Given the description of an element on the screen output the (x, y) to click on. 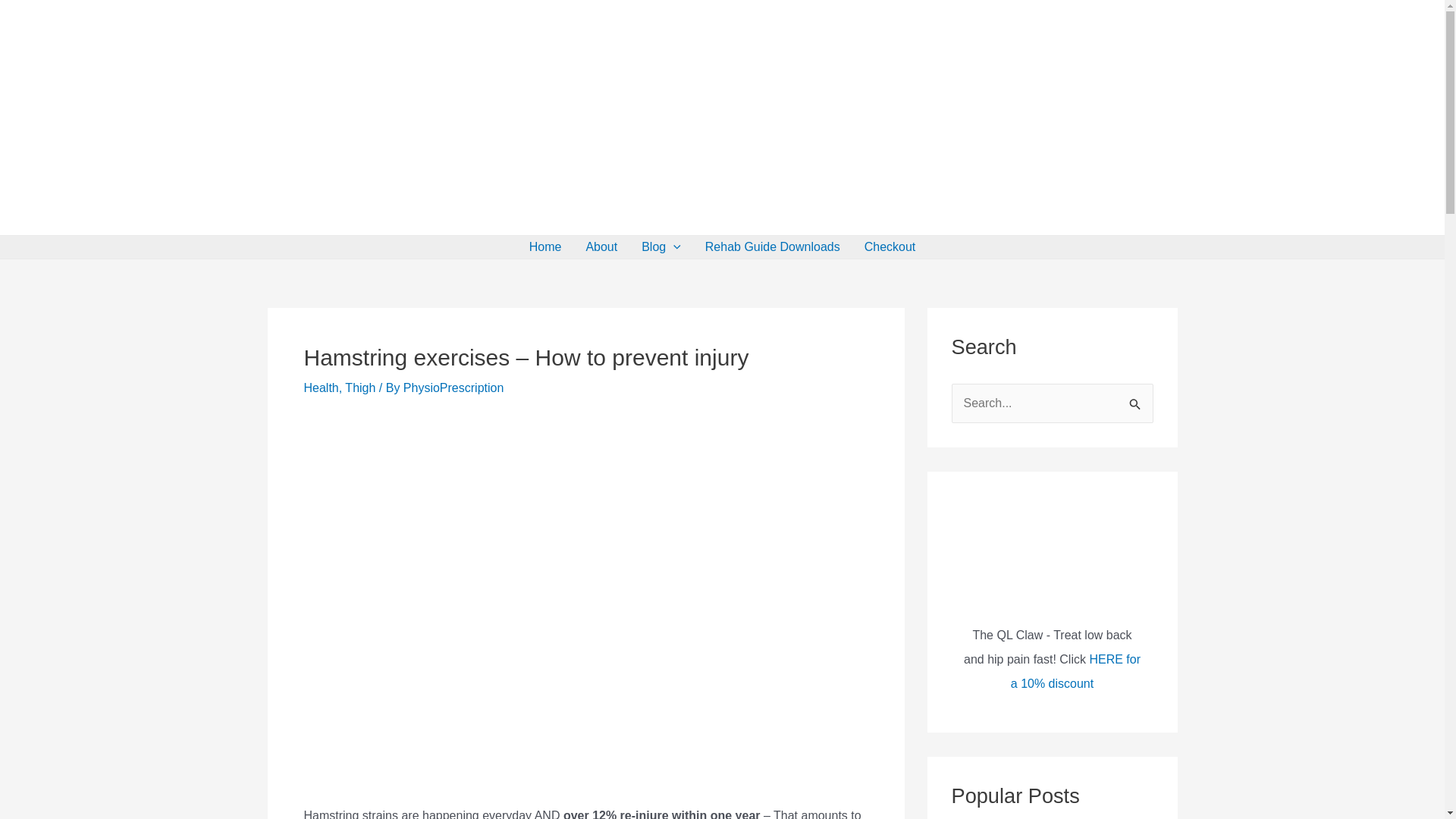
View all posts by PhysioPrescription (453, 387)
About (600, 246)
Home (544, 246)
Rehab Guide Downloads (772, 246)
Blog (660, 246)
Checkout (889, 246)
Search (1136, 399)
Search (1136, 399)
Home (544, 246)
